Given the description of an element on the screen output the (x, y) to click on. 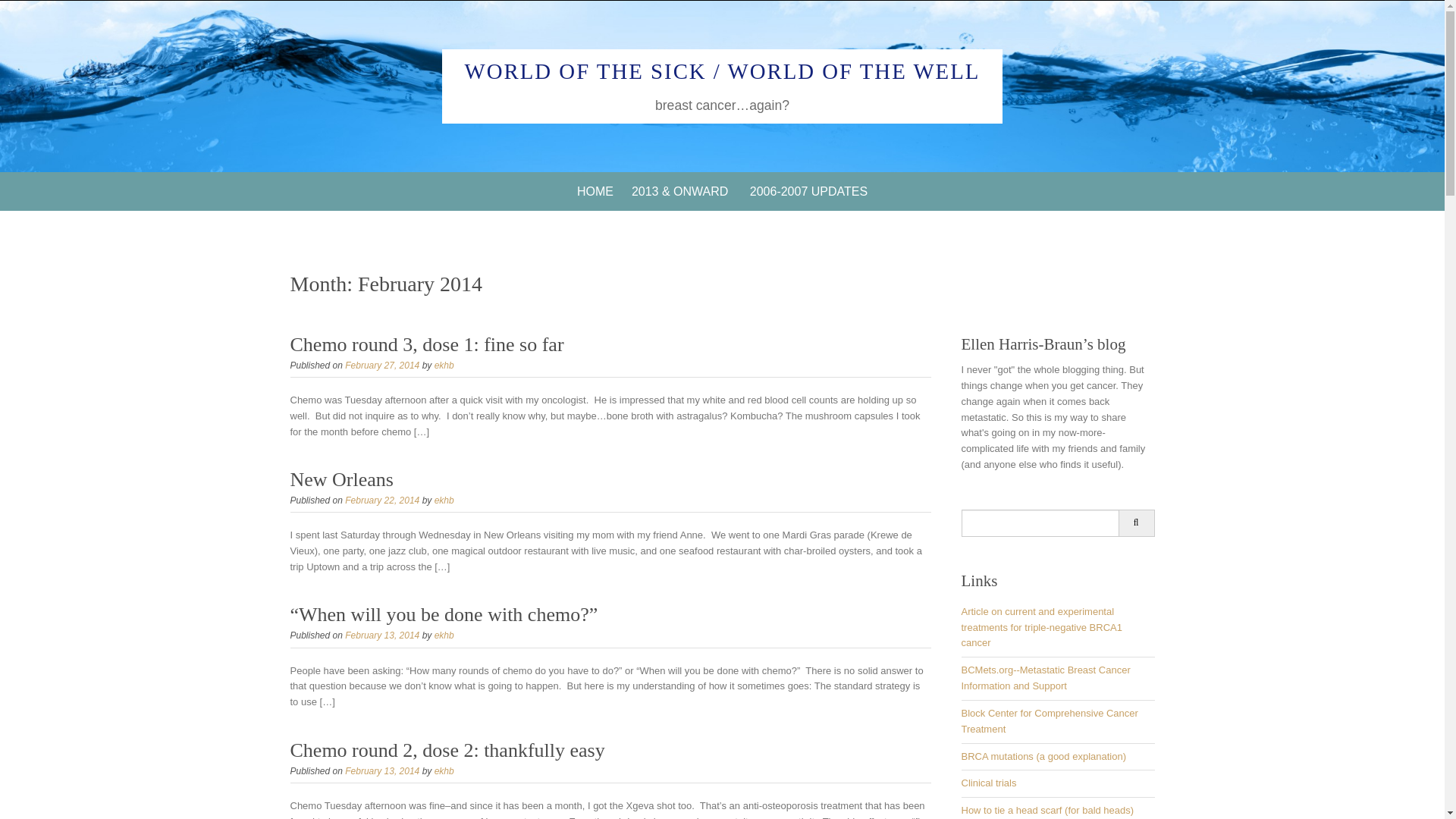
2006-2007 UPDATES (808, 190)
ekhb (443, 770)
February 27, 2014 (382, 365)
HOME (595, 190)
New Orleans (341, 479)
ekhb (443, 500)
February 22, 2014 (382, 500)
Chemo round 2, dose 2: thankfully easy (446, 750)
February 13, 2014 (382, 770)
ekhb (443, 365)
Chemo round 3, dose 1: fine so far (426, 344)
February 13, 2014 (382, 634)
